Given the description of an element on the screen output the (x, y) to click on. 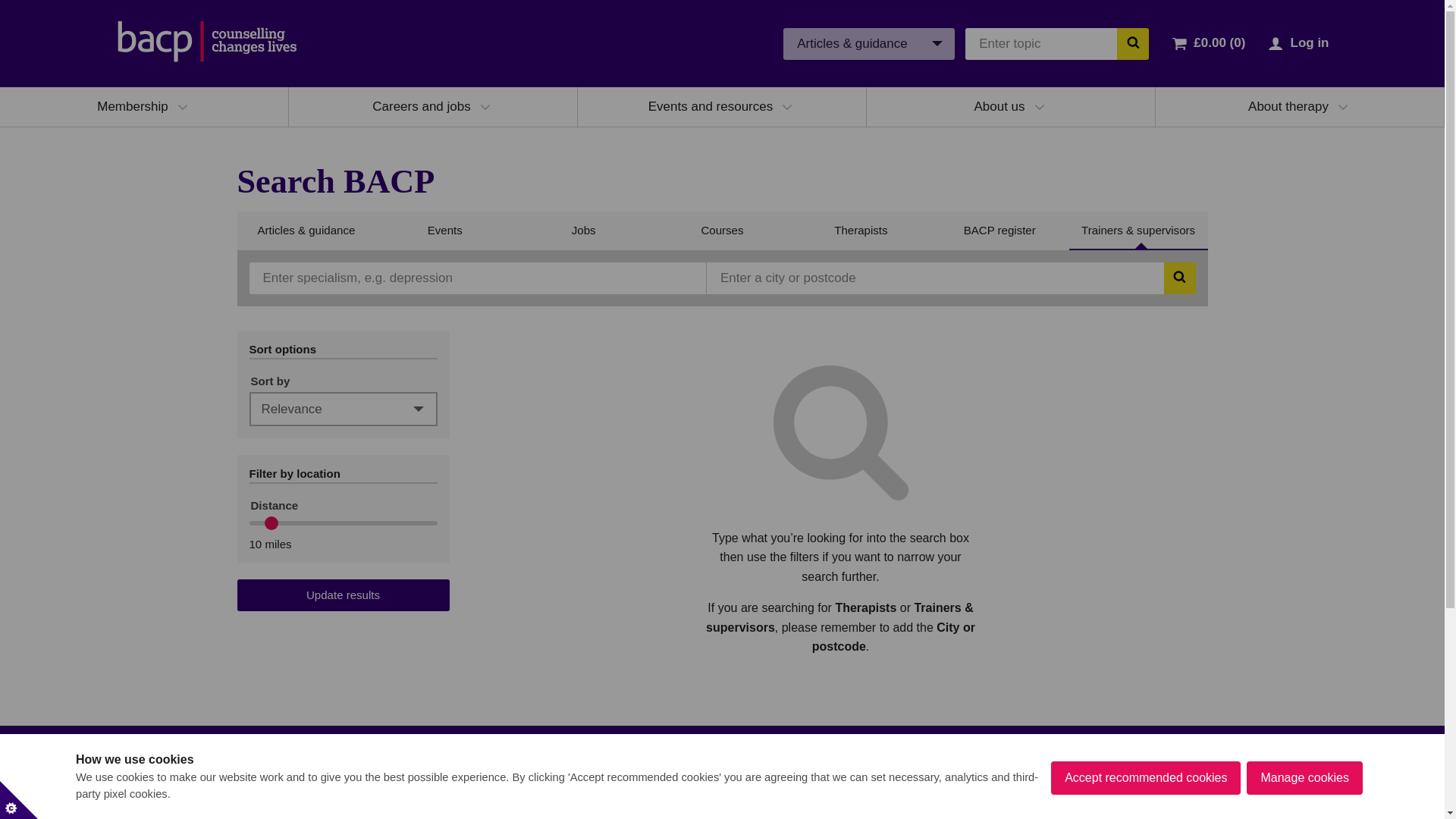
Careers and jobs (421, 106)
Search the BACP website (1132, 42)
Events and resources (710, 106)
Membership (132, 106)
10 (342, 522)
Log in (1309, 42)
